Given the description of an element on the screen output the (x, y) to click on. 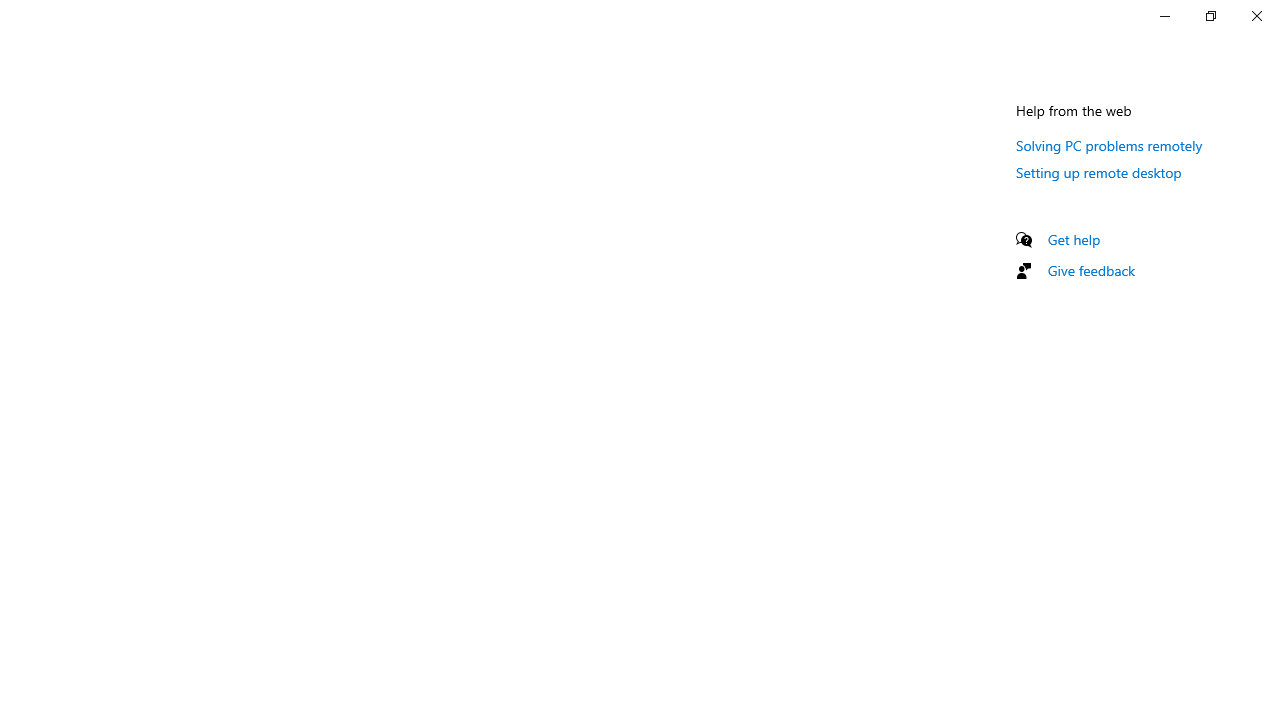
Setting up remote desktop (1098, 172)
Solving PC problems remotely (1109, 145)
Get help (1074, 239)
Restore Settings (1210, 15)
Minimize Settings (1164, 15)
Close Settings (1256, 15)
Give feedback (1091, 270)
